Given the description of an element on the screen output the (x, y) to click on. 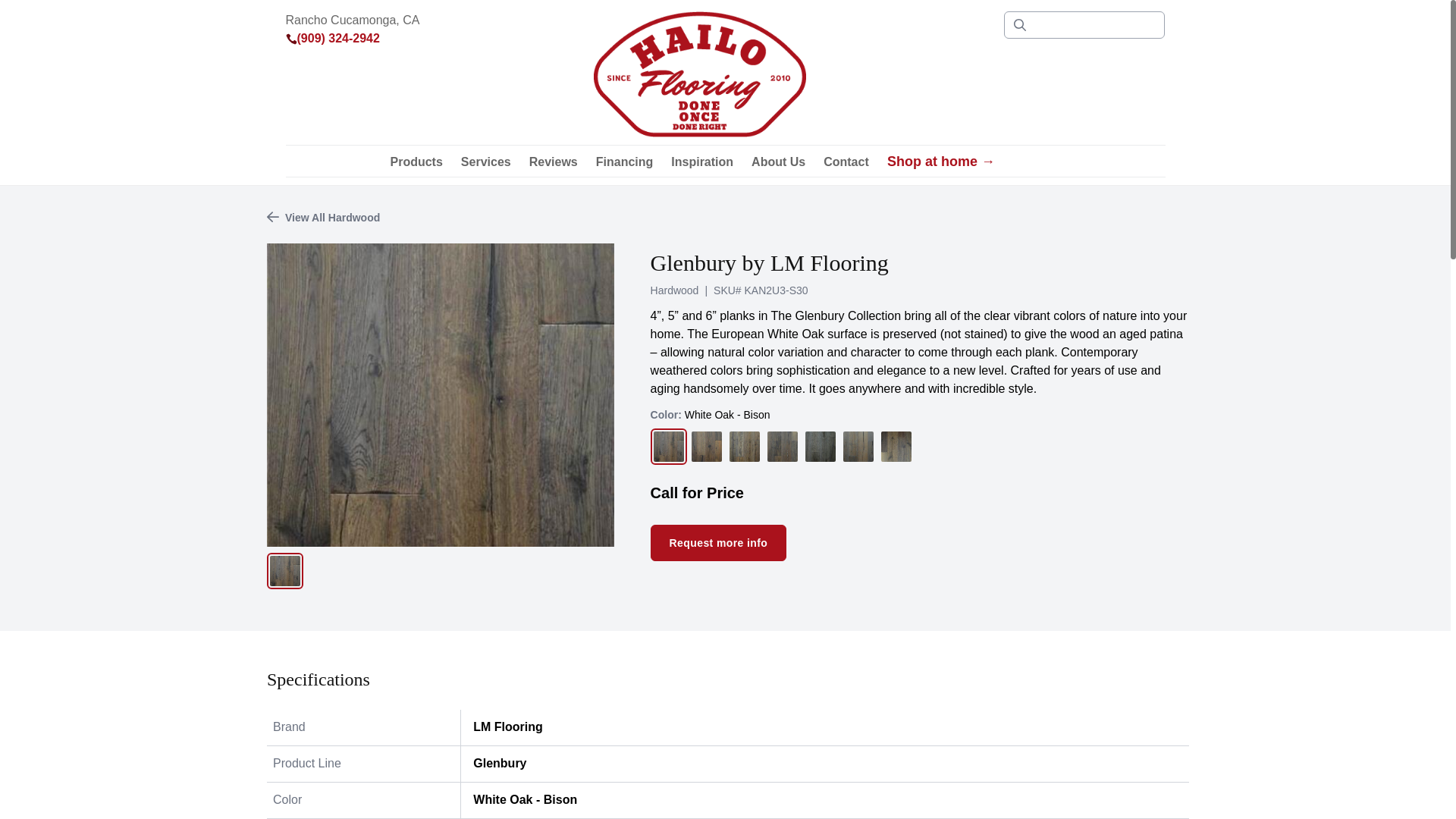
Glenbury by LM Flooring - White Oak - Bison (440, 395)
What are you looking for? (1084, 24)
Request an estimate (1026, 161)
White Oak - Bison (668, 447)
Contact (845, 162)
White Oak - Buckskin (706, 447)
White Oak - Caribou (744, 447)
White Oak - Silverado (858, 447)
Services (485, 162)
Products (415, 162)
Hailo Flooring (700, 74)
phone (291, 39)
White Oak - Cascade (782, 447)
White Oak - Pewter (820, 447)
Inspiration (702, 162)
